Given the description of an element on the screen output the (x, y) to click on. 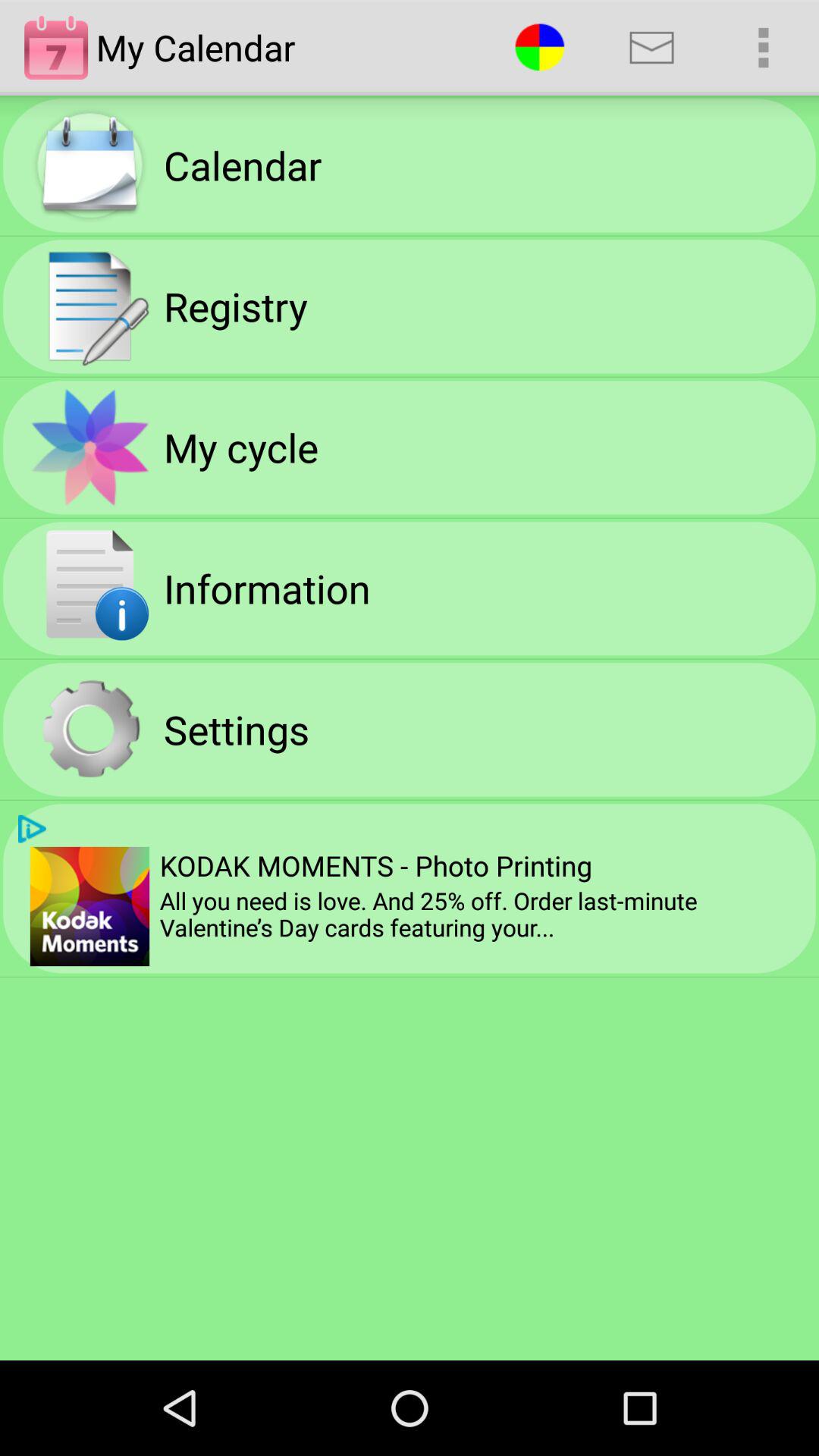
select the item to the left of the kodak moments photo (89, 906)
